Given the description of an element on the screen output the (x, y) to click on. 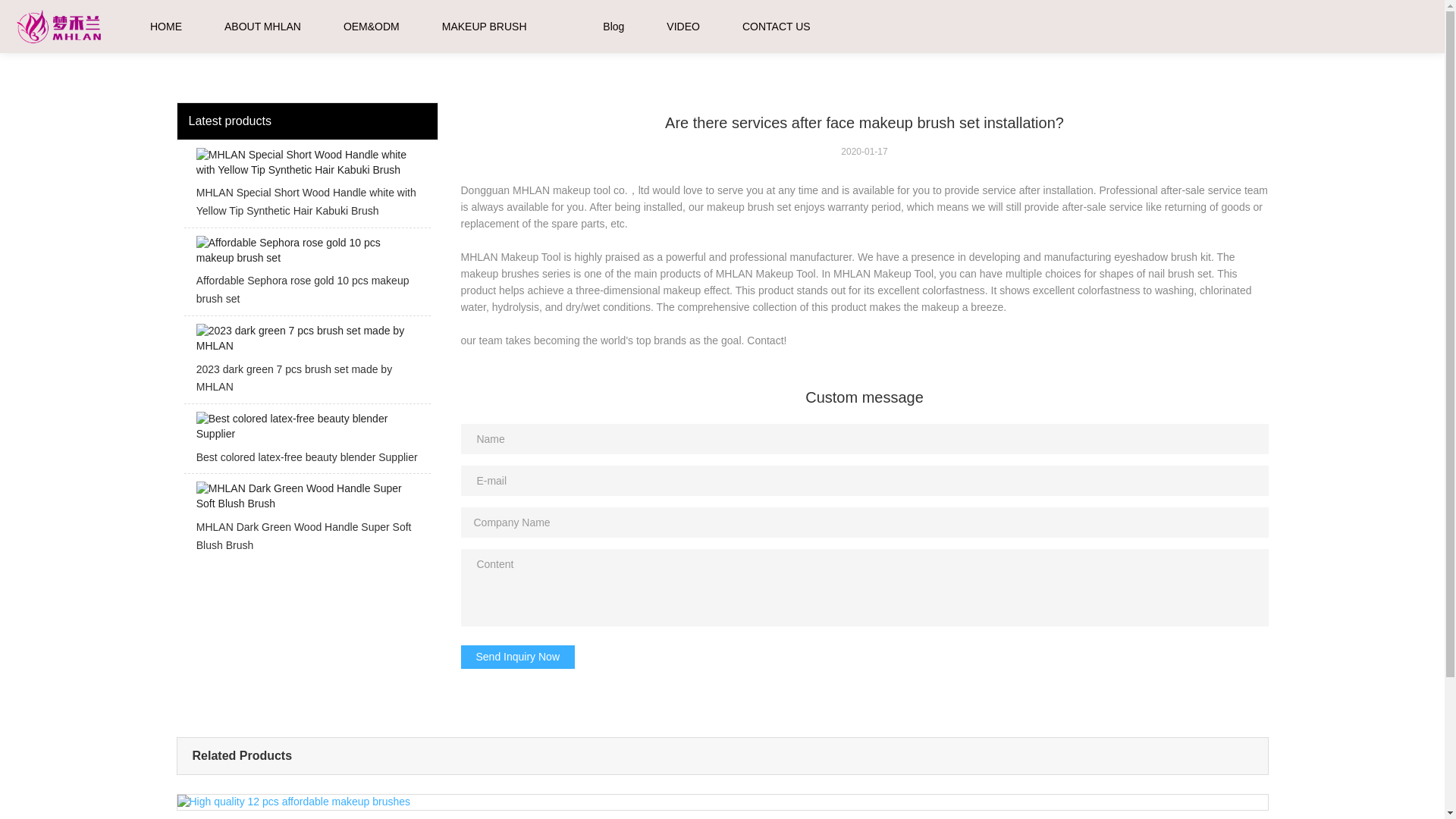
MHLAN Dark Green Wood Handle Super Soft Blush Brush (306, 521)
Best colored latex-free beauty blender Supplier (306, 442)
High quality 12 pcs affordable makeup brushes (722, 807)
CONTACT US (776, 26)
ABOUT MHLAN (262, 26)
HOME (165, 26)
MAKEUP BRUSH (484, 26)
Send Inquiry Now (518, 656)
Blog (613, 26)
Affordable Sephora rose gold 10 pcs makeup brush set (306, 275)
VIDEO (683, 26)
2023 dark green 7 pcs brush set made by MHLAN (306, 363)
